Given the description of an element on the screen output the (x, y) to click on. 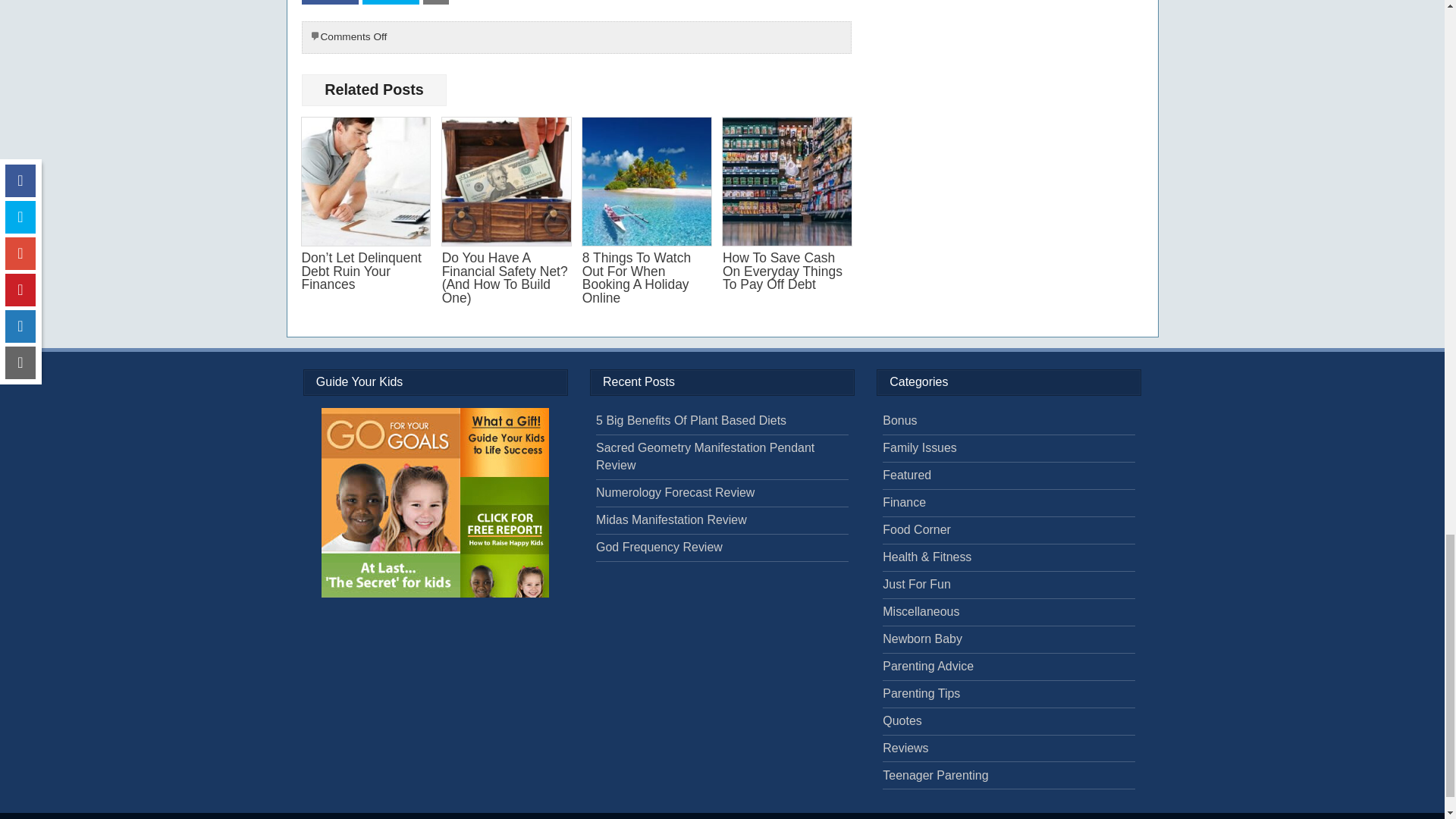
Tweet on Twitter (390, 2)
Share On Facebook (329, 2)
